Given the description of an element on the screen output the (x, y) to click on. 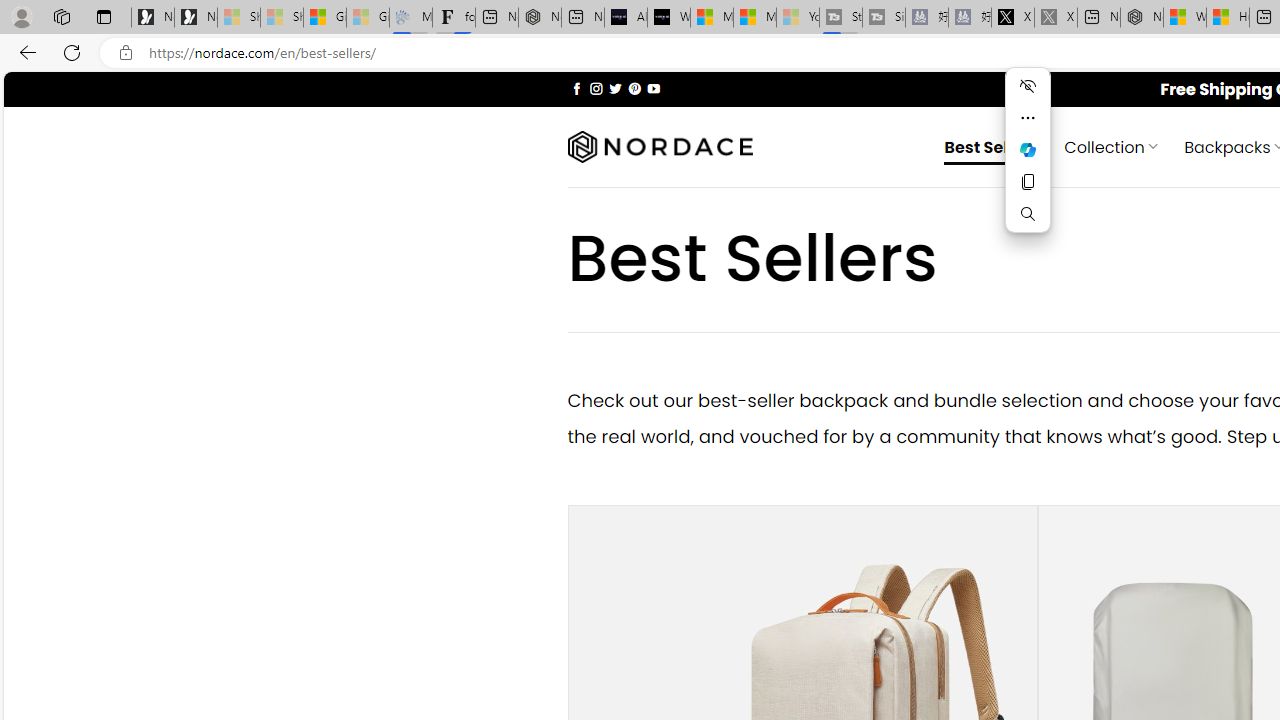
Copy (1027, 182)
Streaming Coverage | T3 - Sleeping (840, 17)
More actions (1027, 117)
Follow on YouTube (653, 88)
AI Voice Changer for PC and Mac - Voice.ai (625, 17)
